Given the description of an element on the screen output the (x, y) to click on. 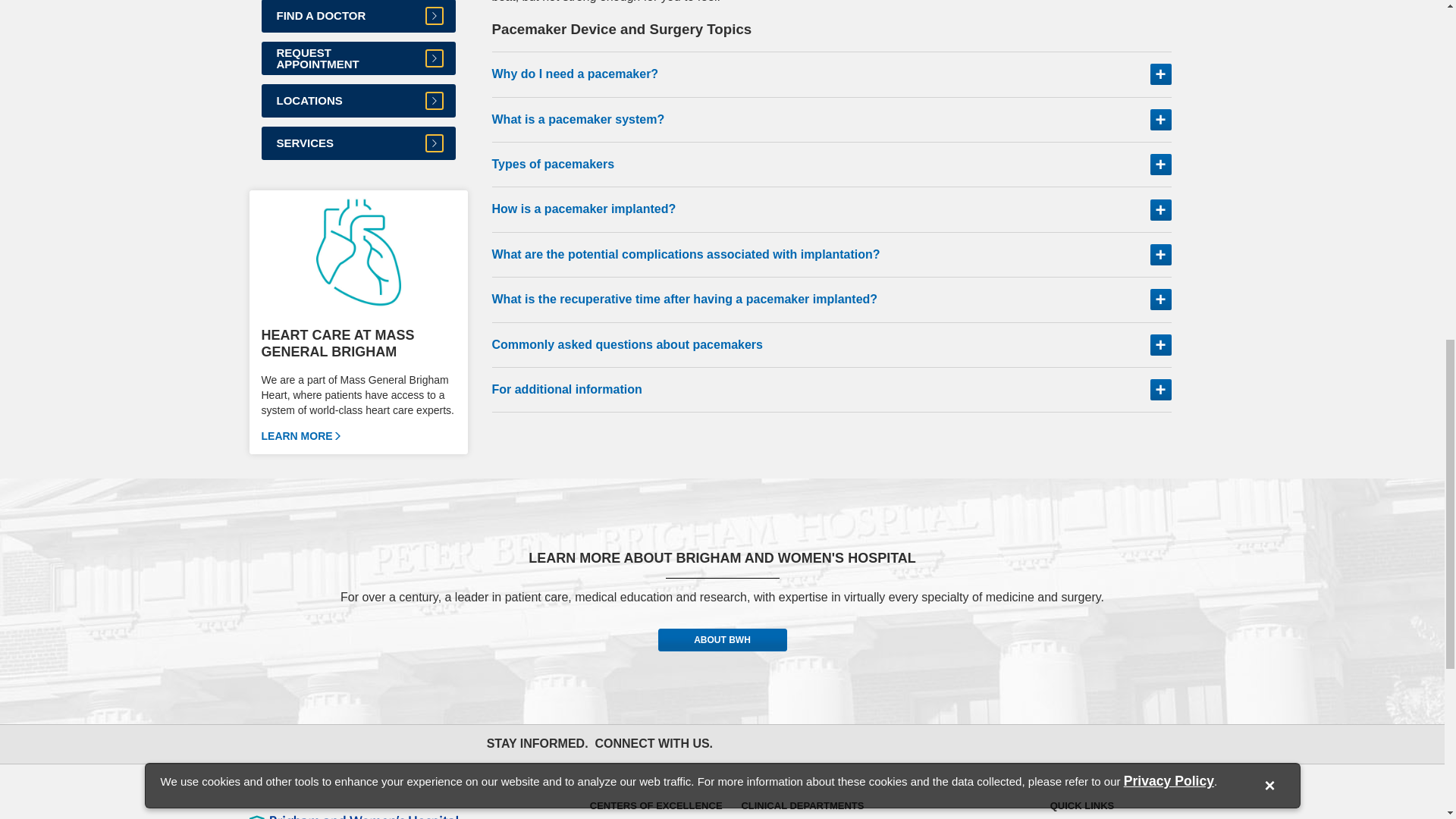
What is a pacemaker system? (831, 119)
Types of pacemakers (831, 164)
YouTube (838, 743)
Newsroom (905, 743)
Facebook (738, 743)
How is a pacemaker implanted? (831, 209)
Instagram (804, 743)
LinkedIn (871, 743)
Why do I need a pacemaker? (831, 74)
